Given the description of an element on the screen output the (x, y) to click on. 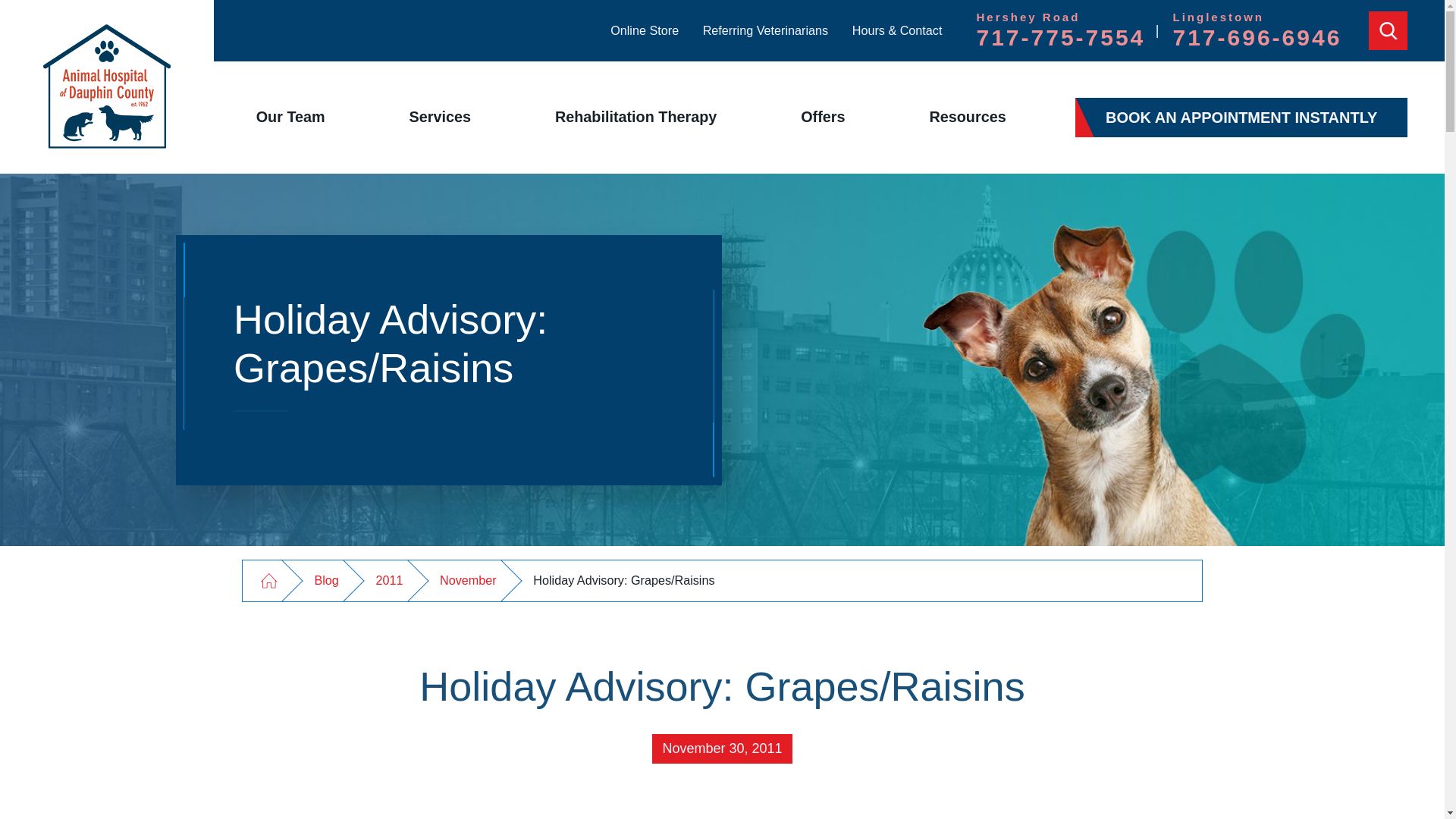
Offers (823, 117)
Go Home (269, 579)
Animal Hospital of Dauphin County (106, 86)
Services (439, 117)
Resources (967, 117)
Search Icon (1059, 30)
Rehabilitation Therapy (1387, 30)
Our Team (634, 117)
Online Store (290, 117)
Referring Veterinarians (644, 29)
Search Our Site (765, 29)
